Given the description of an element on the screen output the (x, y) to click on. 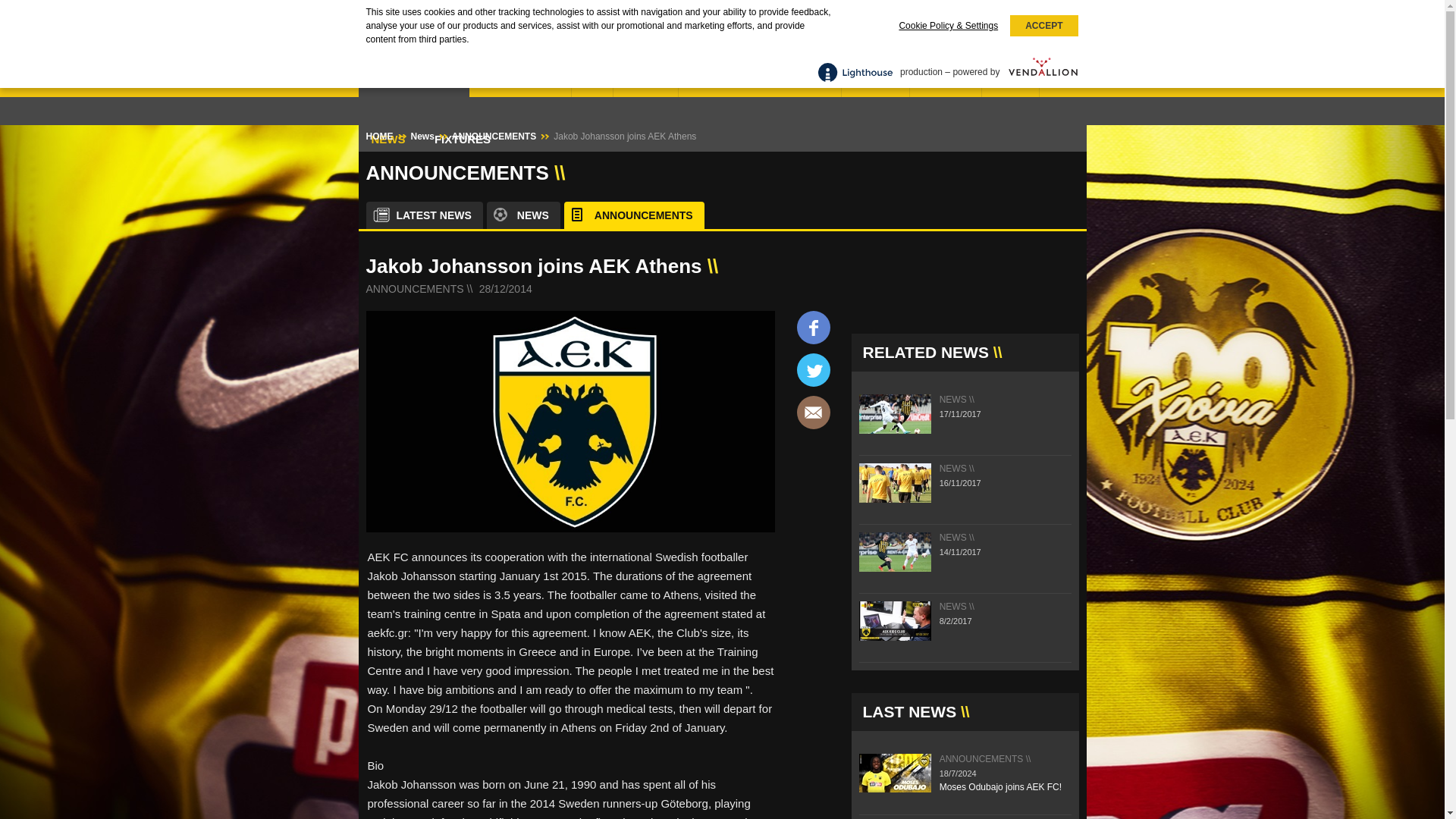
MEDIA GALLERY (404, 11)
NEWS (387, 139)
KIDS CLUB (579, 11)
Lighthouse (855, 71)
CURRENT SEASON (413, 82)
Vendallion (1042, 71)
ACADEMY (645, 82)
FIXTURES (462, 139)
AEK FC (400, 38)
HISTORY (1010, 82)
ATHLETIC UNION OF CONSTANTINOPLE (461, 57)
FACILITIES (875, 82)
SPONSORS (945, 82)
ADMINISTRATION (520, 82)
